Given the description of an element on the screen output the (x, y) to click on. 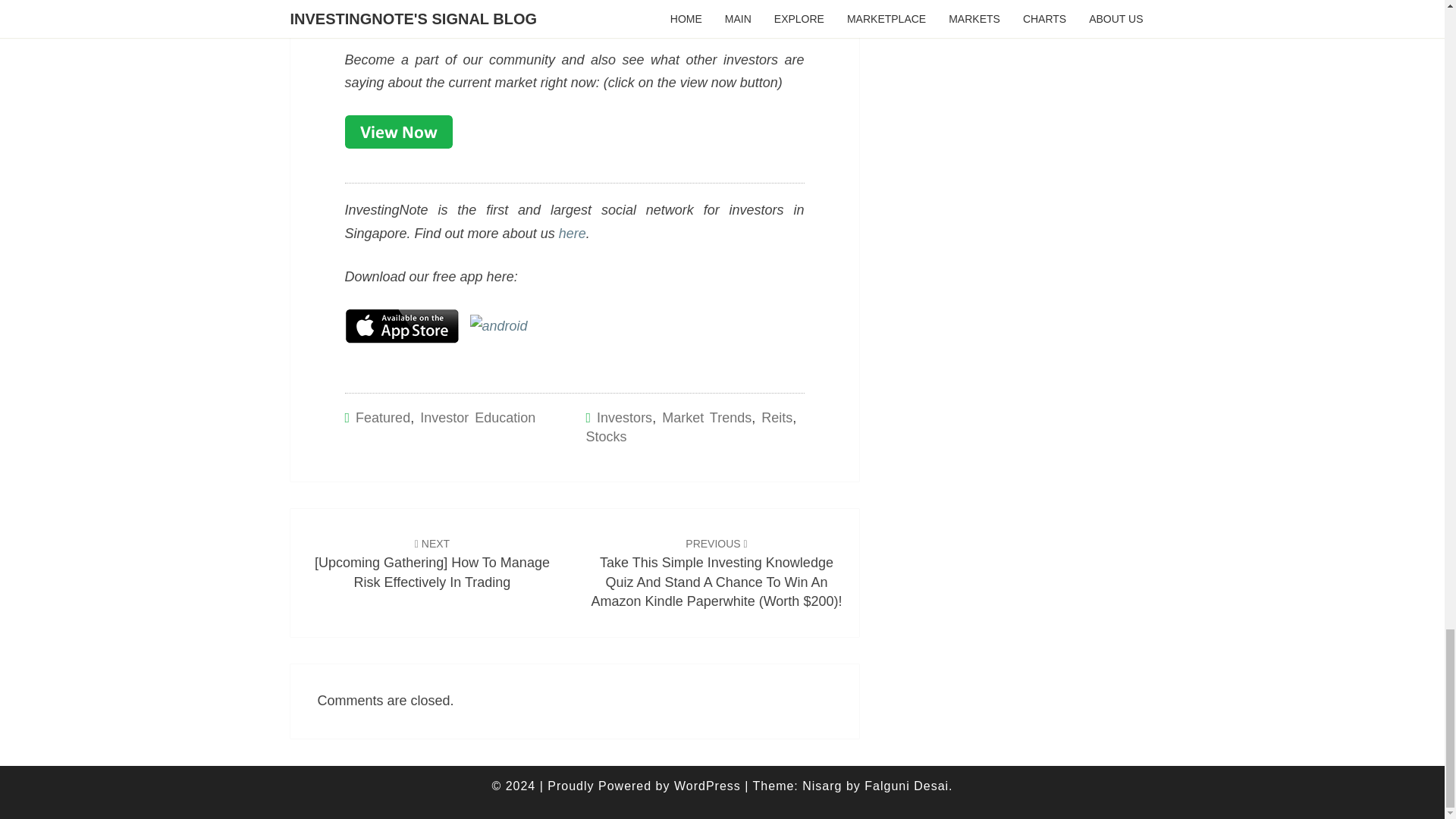
Featured (382, 417)
Market Trends (706, 417)
here (572, 233)
Reits (776, 417)
Stocks (605, 436)
Investor Education (477, 417)
Investors (624, 417)
Brennen (369, 15)
